Given the description of an element on the screen output the (x, y) to click on. 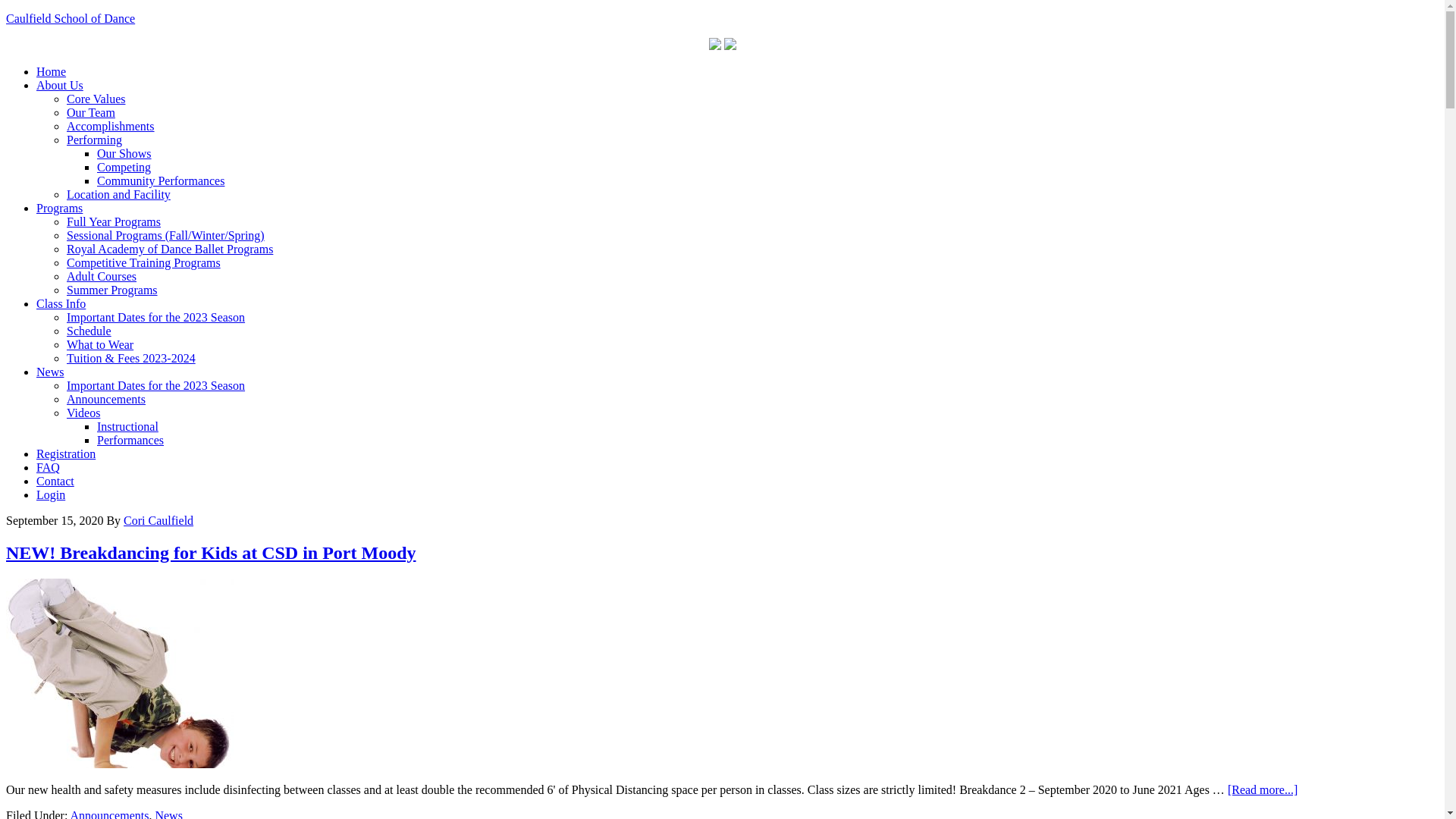
Contact Element type: text (55, 480)
Community Performances Element type: text (160, 180)
What to Wear Element type: text (99, 344)
Caulfield School of Dance Element type: text (70, 18)
About Us Element type: text (59, 84)
[Read more...] Element type: text (1262, 789)
Competing Element type: text (123, 166)
Videos Element type: text (83, 412)
Class Info Element type: text (60, 303)
Accomplishments Element type: text (110, 125)
Schedule Element type: text (88, 330)
NEW! Breakdancing for Kids at CSD in Port Moody Element type: text (210, 552)
Adult Courses Element type: text (101, 275)
Login Element type: text (50, 494)
Full Year Programs Element type: text (113, 221)
Summer Programs Element type: text (111, 289)
Sessional Programs (Fall/Winter/Spring) Element type: text (165, 235)
Announcements Element type: text (105, 398)
Important Dates for the 2023 Season Element type: text (155, 385)
Registration Element type: text (65, 453)
Programs Element type: text (59, 207)
Core Values Element type: text (95, 98)
Royal Academy of Dance Ballet Programs Element type: text (169, 248)
Performing Element type: text (94, 139)
Important Dates for the 2023 Season Element type: text (155, 316)
Cori Caulfield Element type: text (158, 520)
Location and Facility Element type: text (118, 194)
Home Element type: text (50, 71)
News Element type: text (49, 371)
Competitive Training Programs Element type: text (143, 262)
FAQ Element type: text (47, 467)
Instructional Element type: text (127, 426)
Tuition & Fees 2023-2024 Element type: text (130, 357)
Our Team Element type: text (90, 112)
Performances Element type: text (130, 439)
Our Shows Element type: text (124, 153)
